Given the description of an element on the screen output the (x, y) to click on. 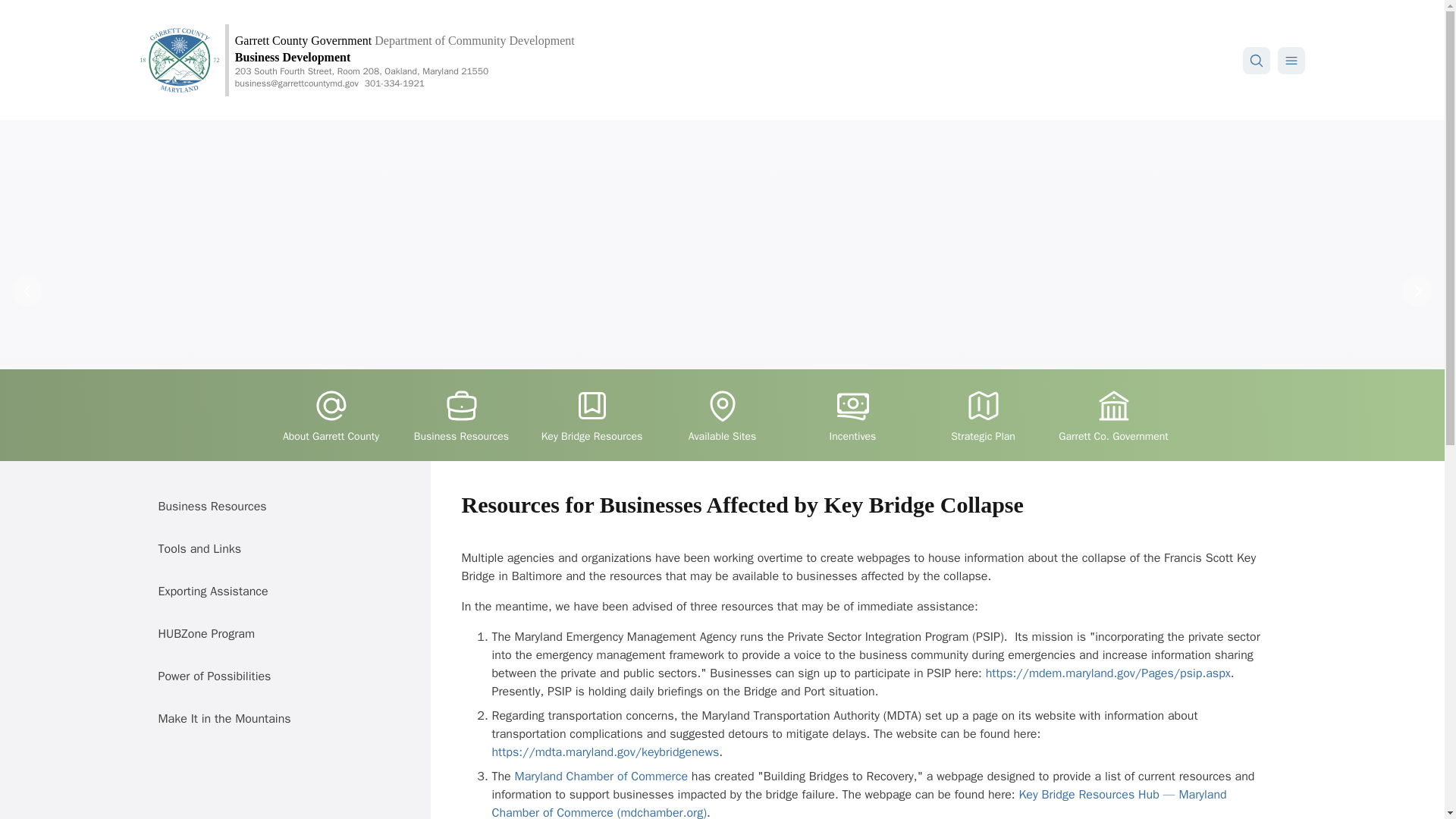
Department of Community Development (474, 39)
Business Development (292, 56)
301-334-1921 (395, 82)
Garrett County Government (302, 39)
